Given the description of an element on the screen output the (x, y) to click on. 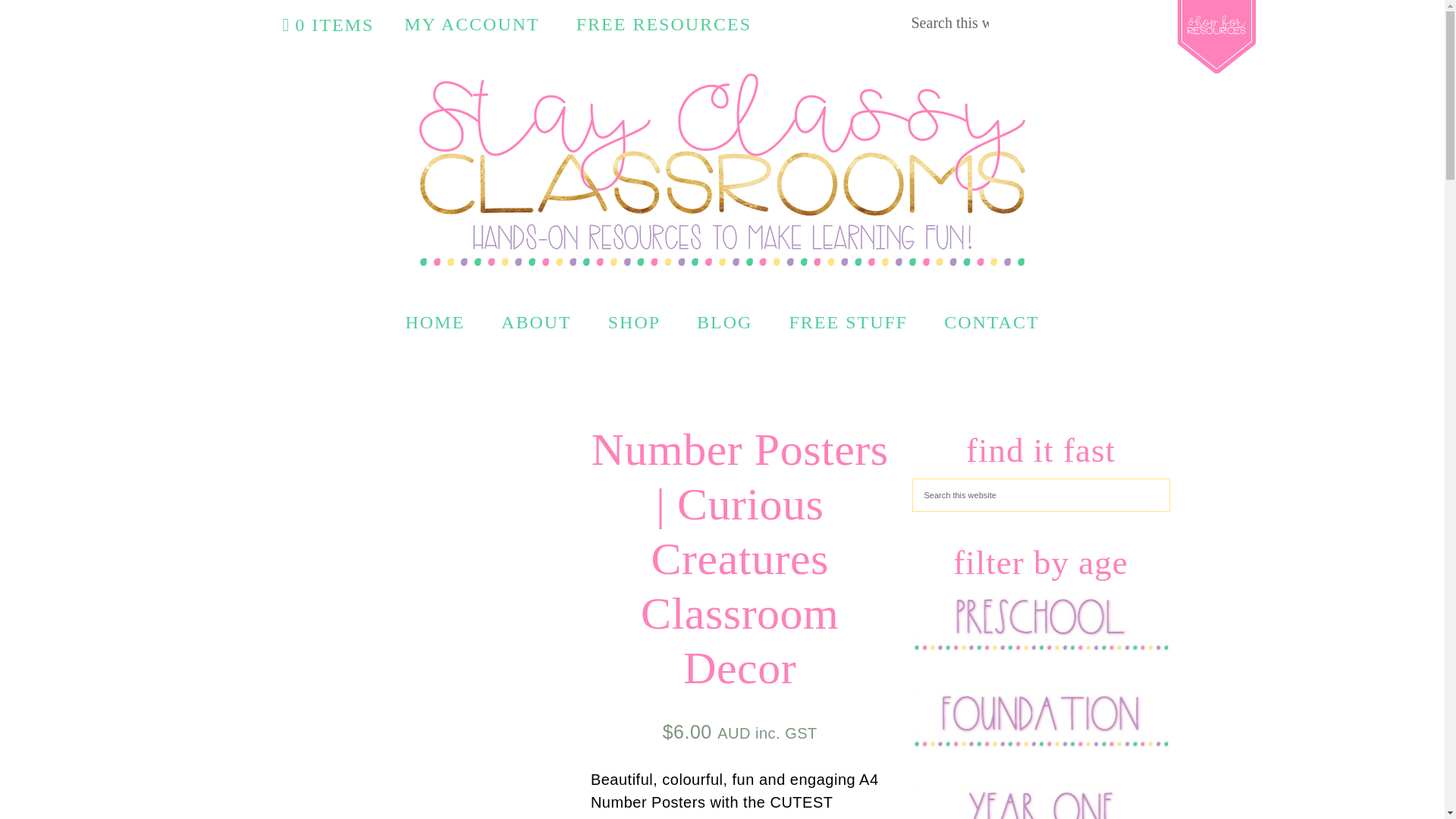
CONTACT (991, 322)
FREE STUFF (848, 322)
ABOUT (536, 322)
MY ACCOUNT (471, 24)
FREE RESOURCES (663, 24)
Start shopping (327, 25)
